Given the description of an element on the screen output the (x, y) to click on. 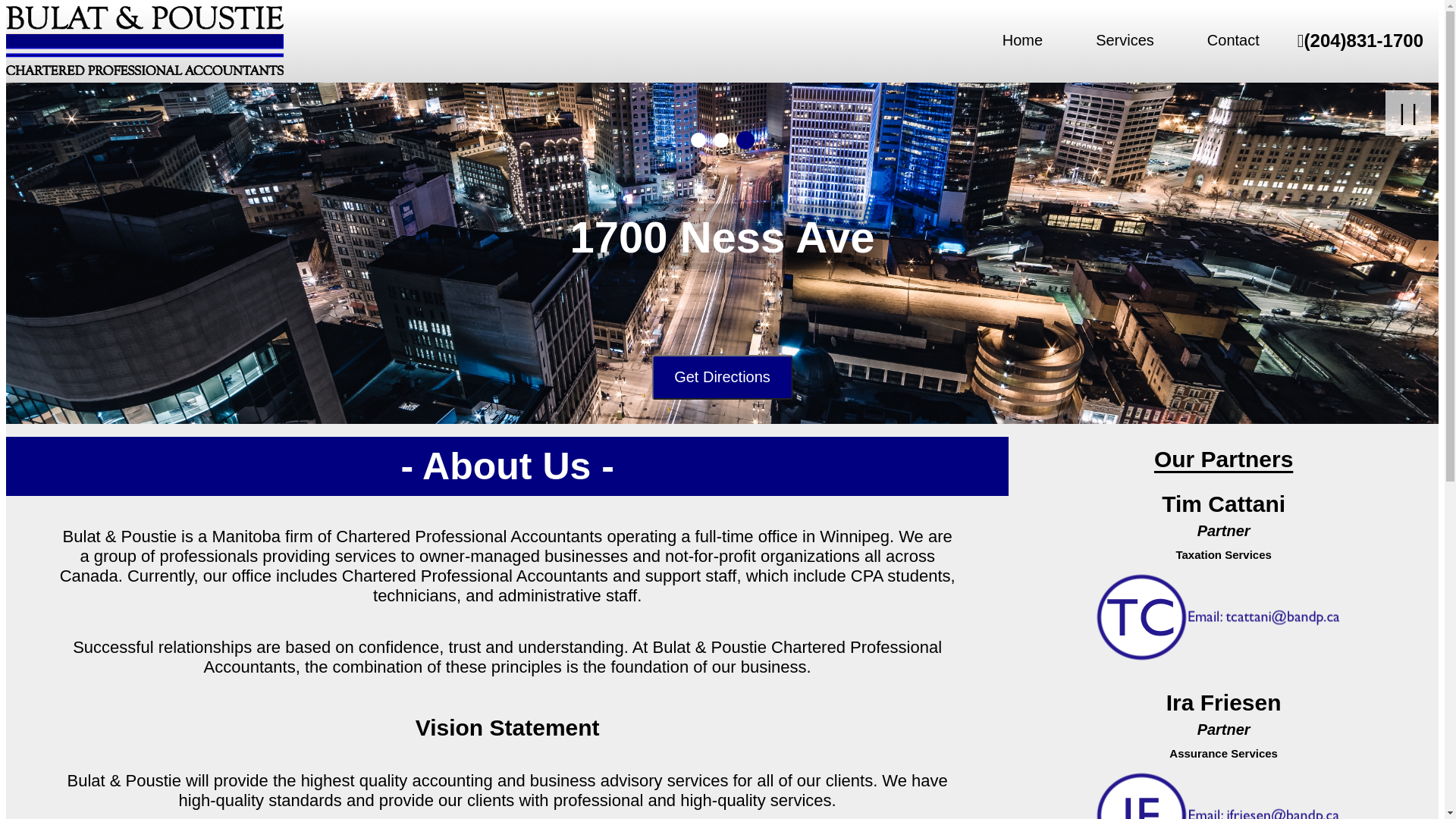
Contact Element type: text (1233, 40)
Home Element type: text (1022, 40)
Services Element type: text (1124, 40)
Services Element type: text (722, 376)
| | Element type: text (1407, 112)
